Given the description of an element on the screen output the (x, y) to click on. 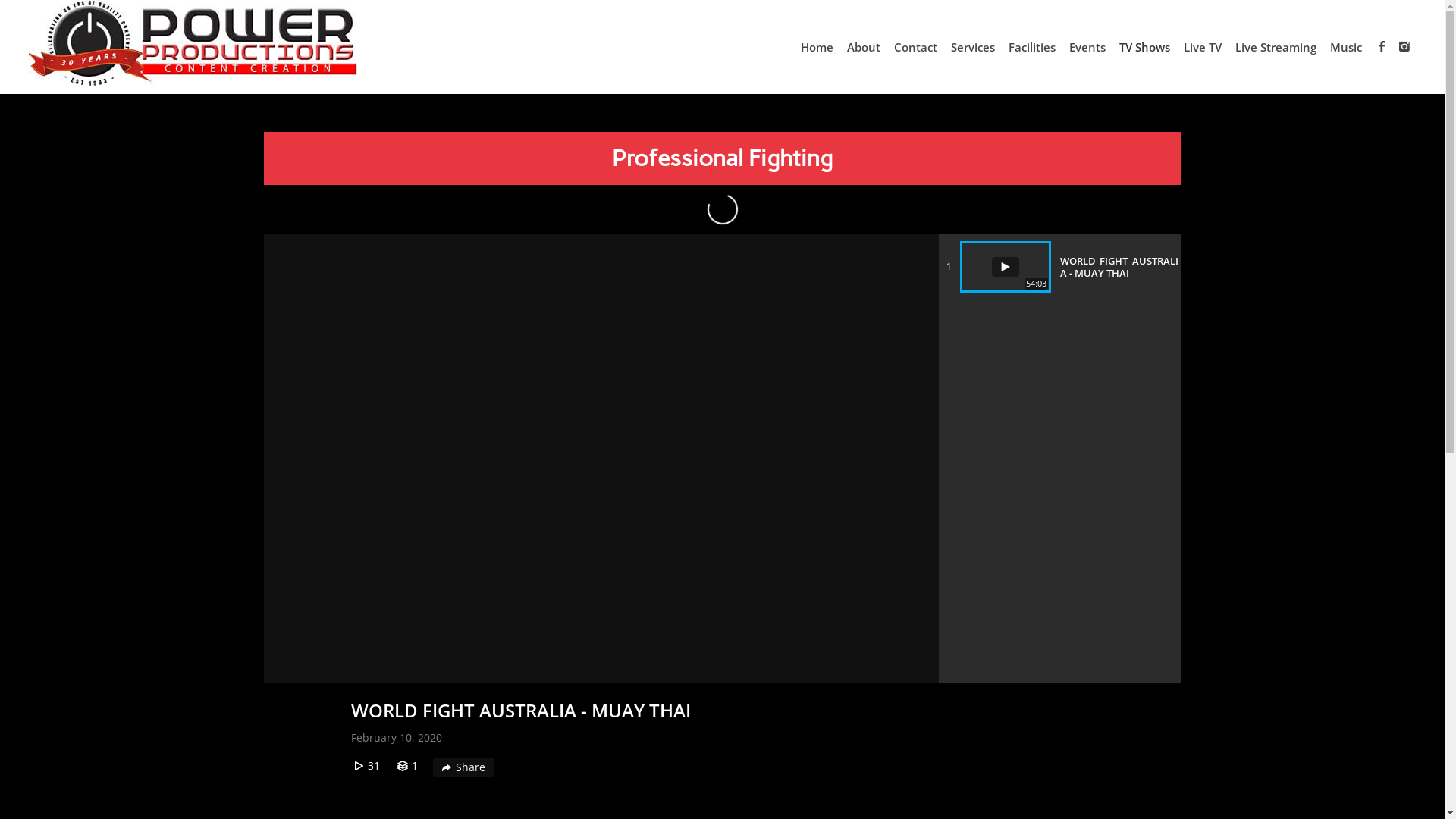
Facebook Element type: hover (1381, 45)
1
54:03
WORLD FIGHT AUSTRALIA - MUAY THAI Element type: text (1058, 266)
Contact Element type: text (915, 47)
TV Shows Element type: text (1144, 47)
videoFrame Element type: hover (600, 458)
About Element type: text (863, 47)
Home Element type: text (816, 47)
Professional Fighting Element type: text (721, 158)
Live Streaming Element type: text (1275, 47)
Music Element type: text (1345, 47)
Services Element type: text (972, 47)
Events Element type: text (1087, 47)
Live TV Element type: text (1202, 47)
Instagram Element type: hover (1404, 45)
Facilities Element type: text (1031, 47)
